Given the description of an element on the screen output the (x, y) to click on. 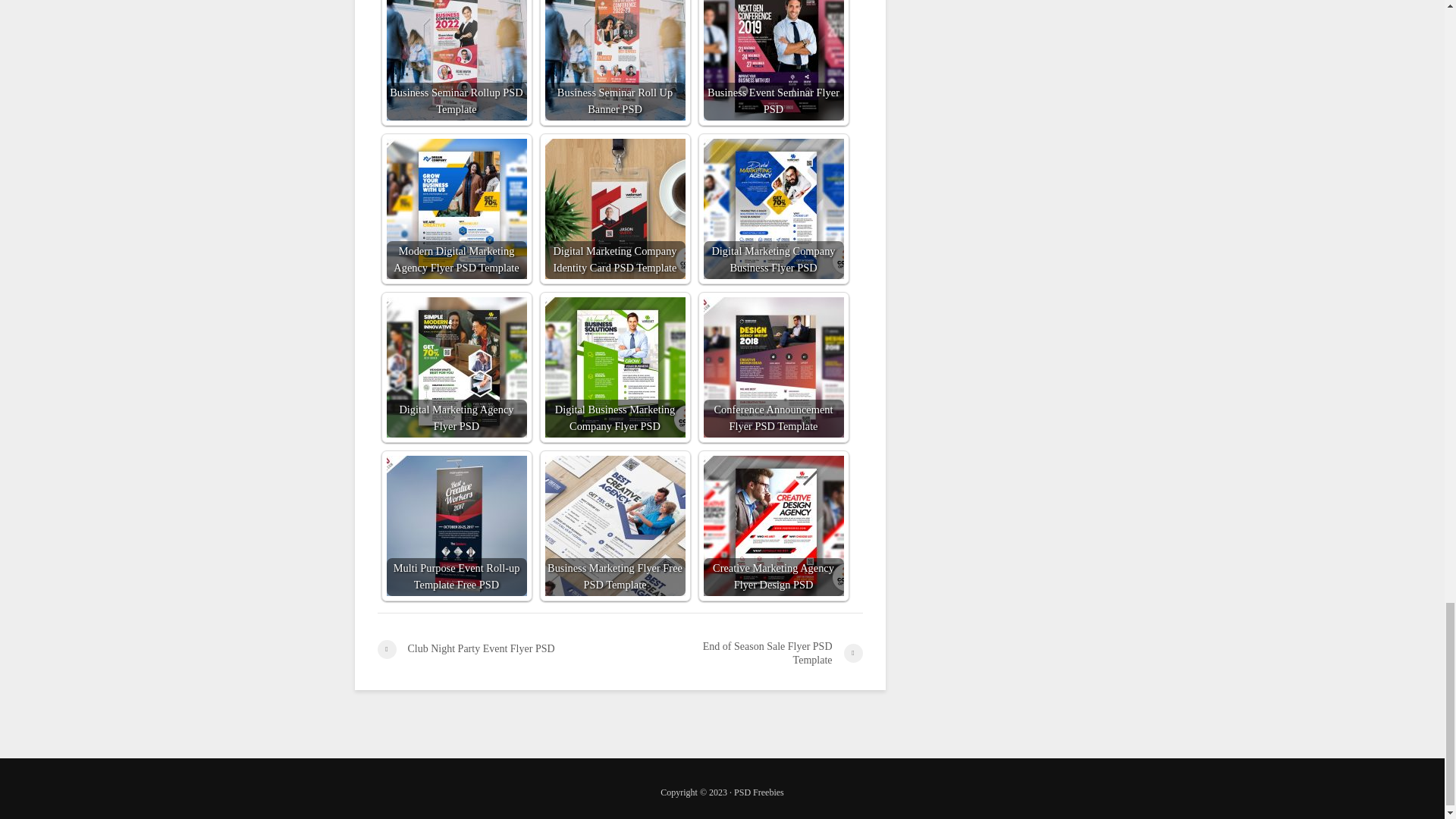
Business Seminar Rollup PSD Template (457, 60)
Modern Digital Marketing Agency Flyer PSD Template (457, 208)
Business Seminar Roll Up Banner PSD (614, 60)
Business Event Seminar Flyer PSD (773, 60)
Business Seminar Rollup PSD Template (457, 60)
Business Event Seminar Flyer PSD (773, 60)
Digital Marketing Company Identity Card PSD Template (614, 208)
Business Seminar Roll Up Banner PSD (614, 60)
